Given the description of an element on the screen output the (x, y) to click on. 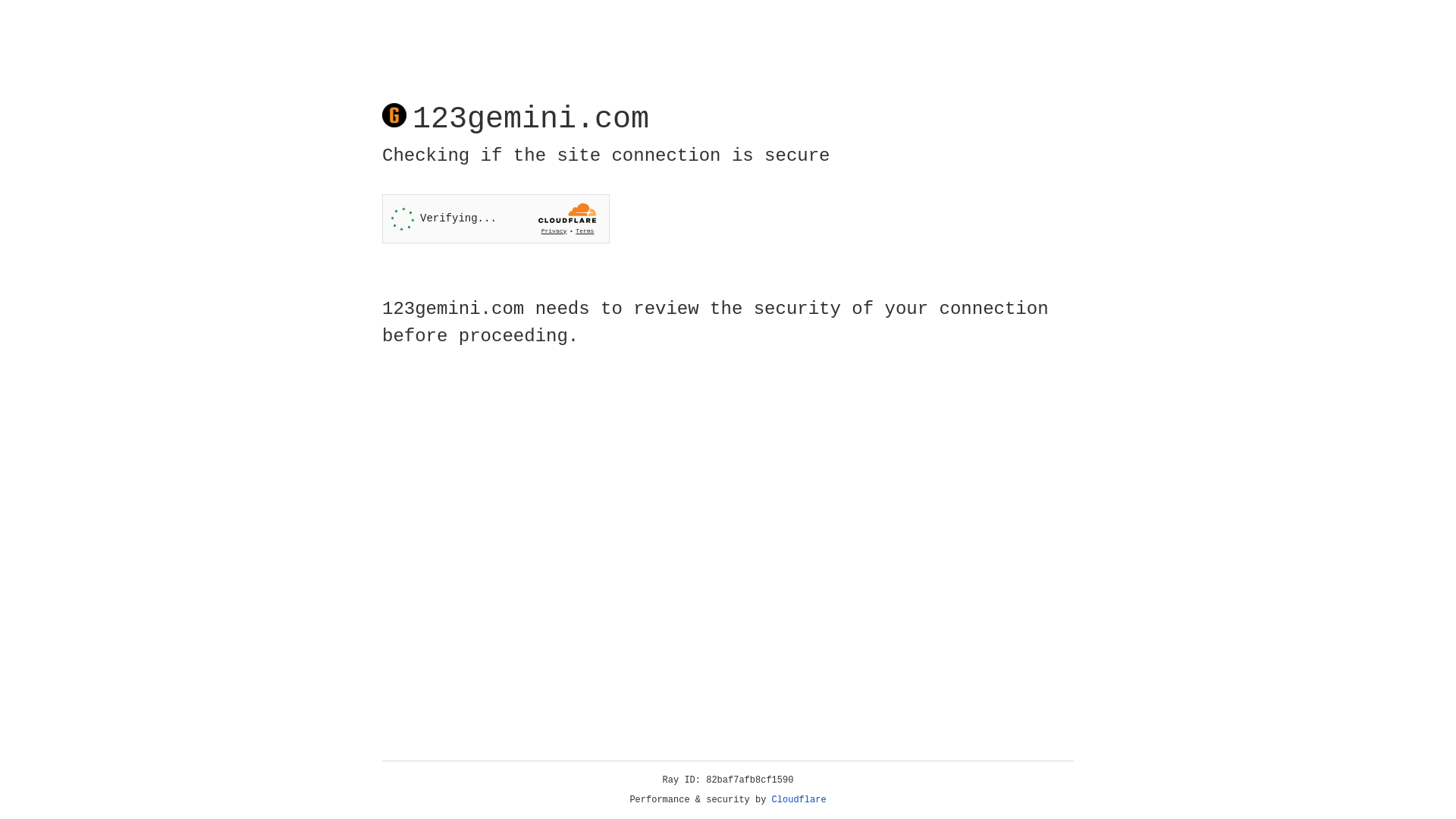
Cloudflare Element type: text (798, 799)
Widget containing a Cloudflare security challenge Element type: hover (495, 218)
